Given the description of an element on the screen output the (x, y) to click on. 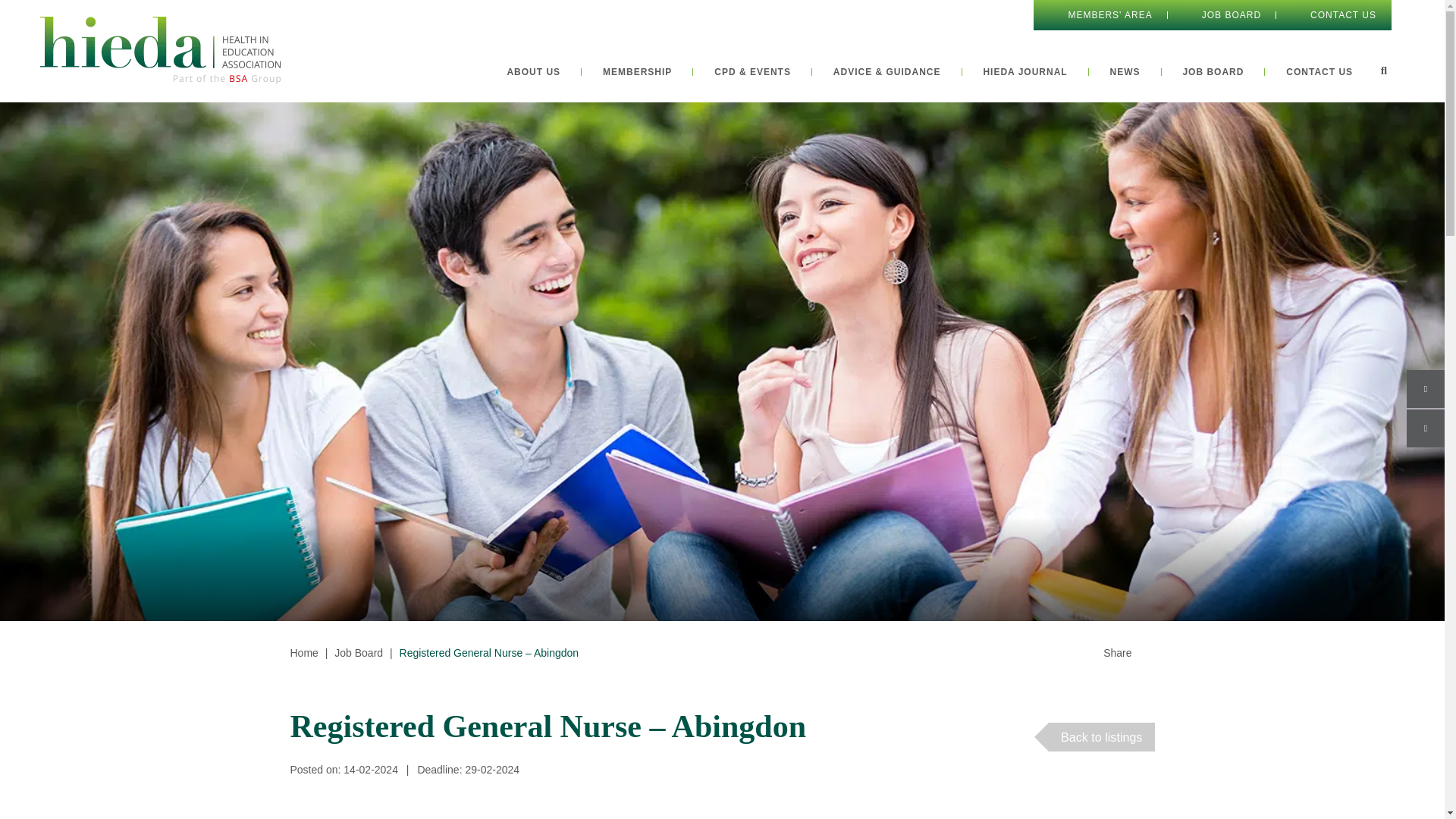
JOB BOARD (1221, 15)
HIEDA JOURNAL (1024, 71)
MEMBERS' AREA (1099, 15)
Go to Job Board. (358, 653)
NEWS (1124, 71)
ABOUT US (533, 71)
CONTACT US (1318, 71)
CONTACT US (1333, 15)
MEMBERSHIP (636, 71)
JOB BOARD (1212, 71)
Go to Hieda. (303, 653)
